Given the description of an element on the screen output the (x, y) to click on. 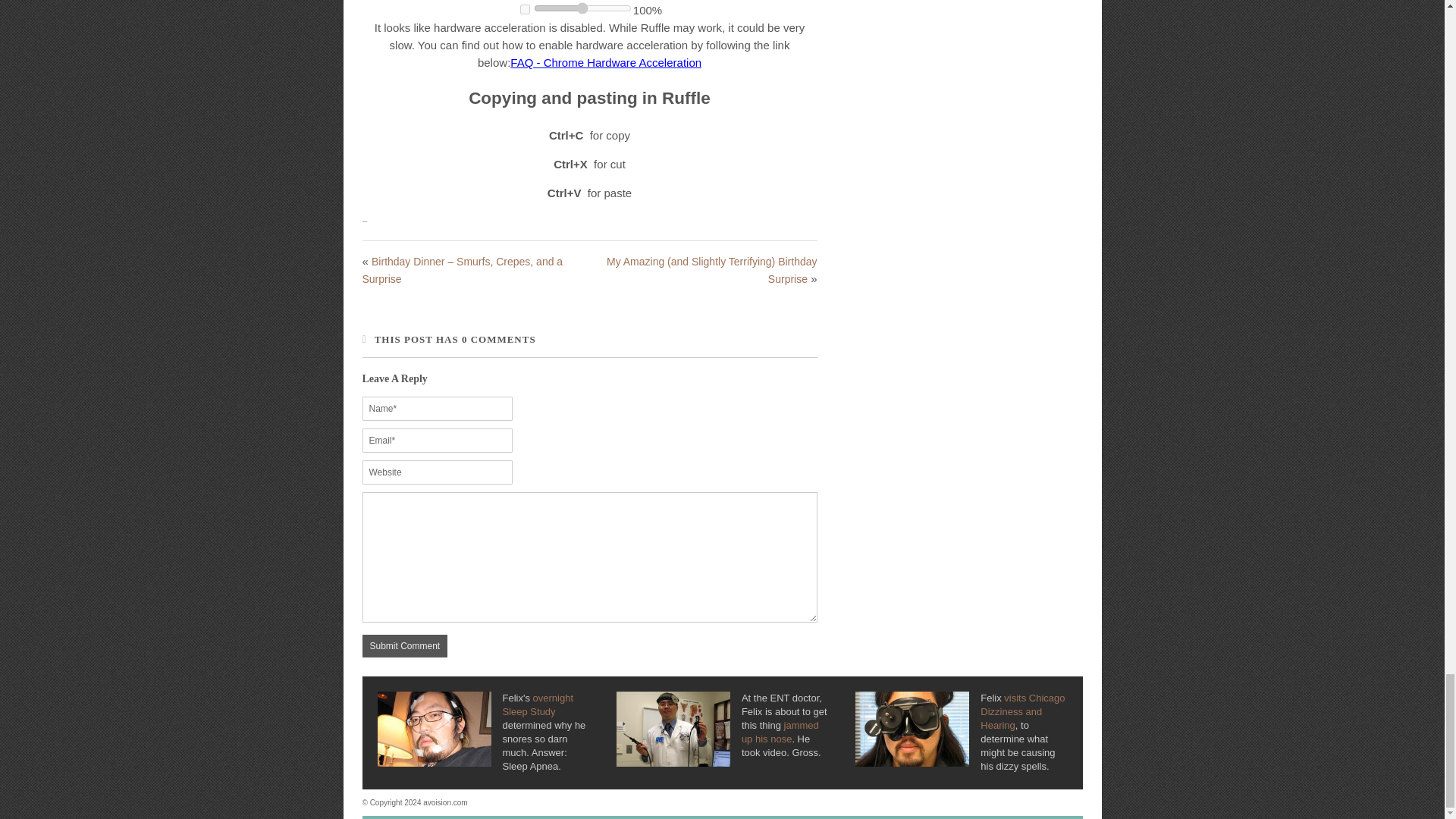
avoision.com (445, 802)
Website (437, 472)
